Given the description of an element on the screen output the (x, y) to click on. 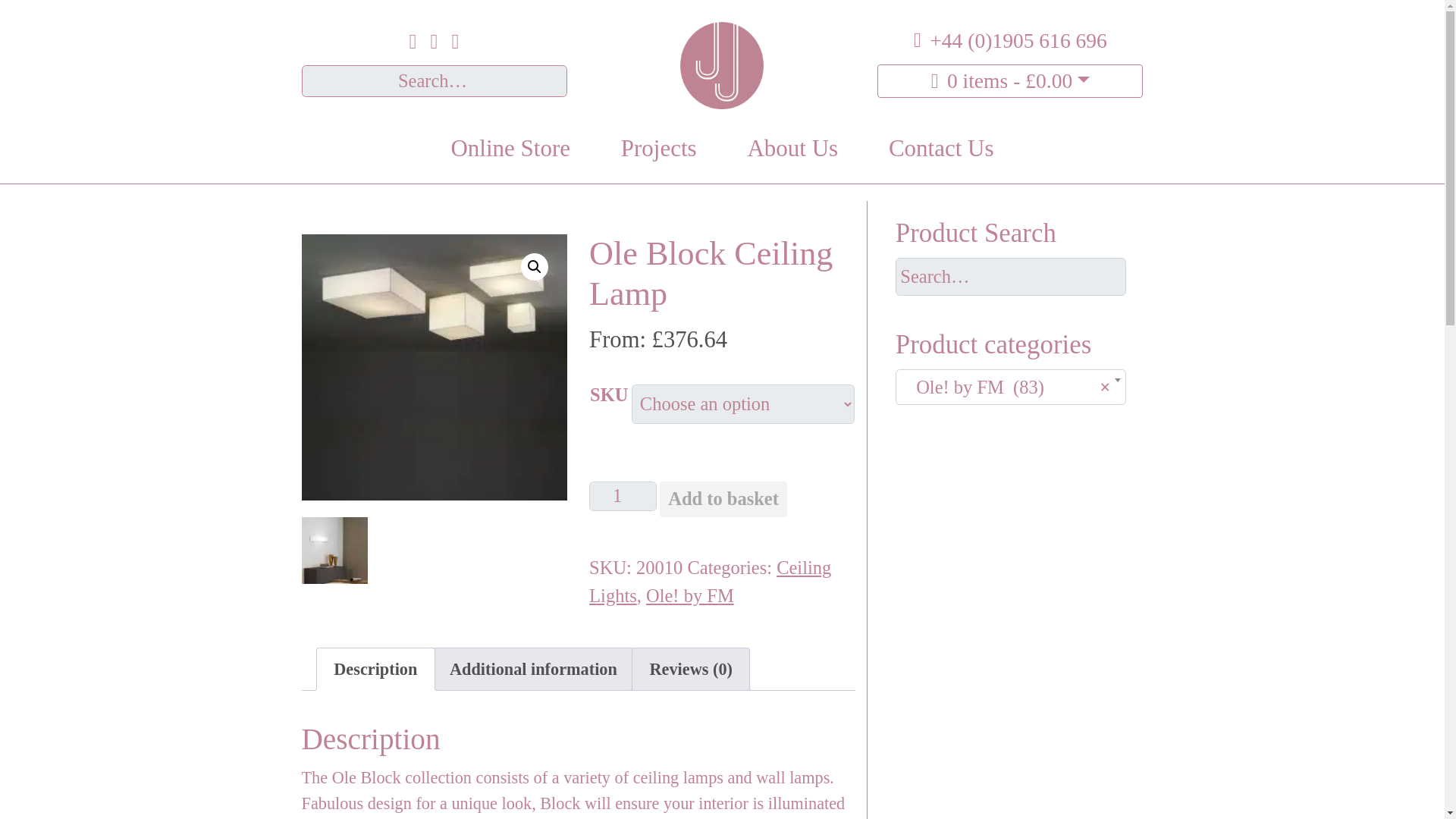
Description (374, 669)
Projects (658, 149)
About Us (791, 149)
Online Store (510, 149)
1 (622, 496)
Contact Us (941, 149)
Ceiling Lights (710, 581)
Ole! by FM (689, 595)
Additional information (533, 669)
Contact Us (941, 149)
About Us (791, 149)
Add to basket (723, 498)
Projects (658, 149)
Online Store (510, 149)
